Given the description of an element on the screen output the (x, y) to click on. 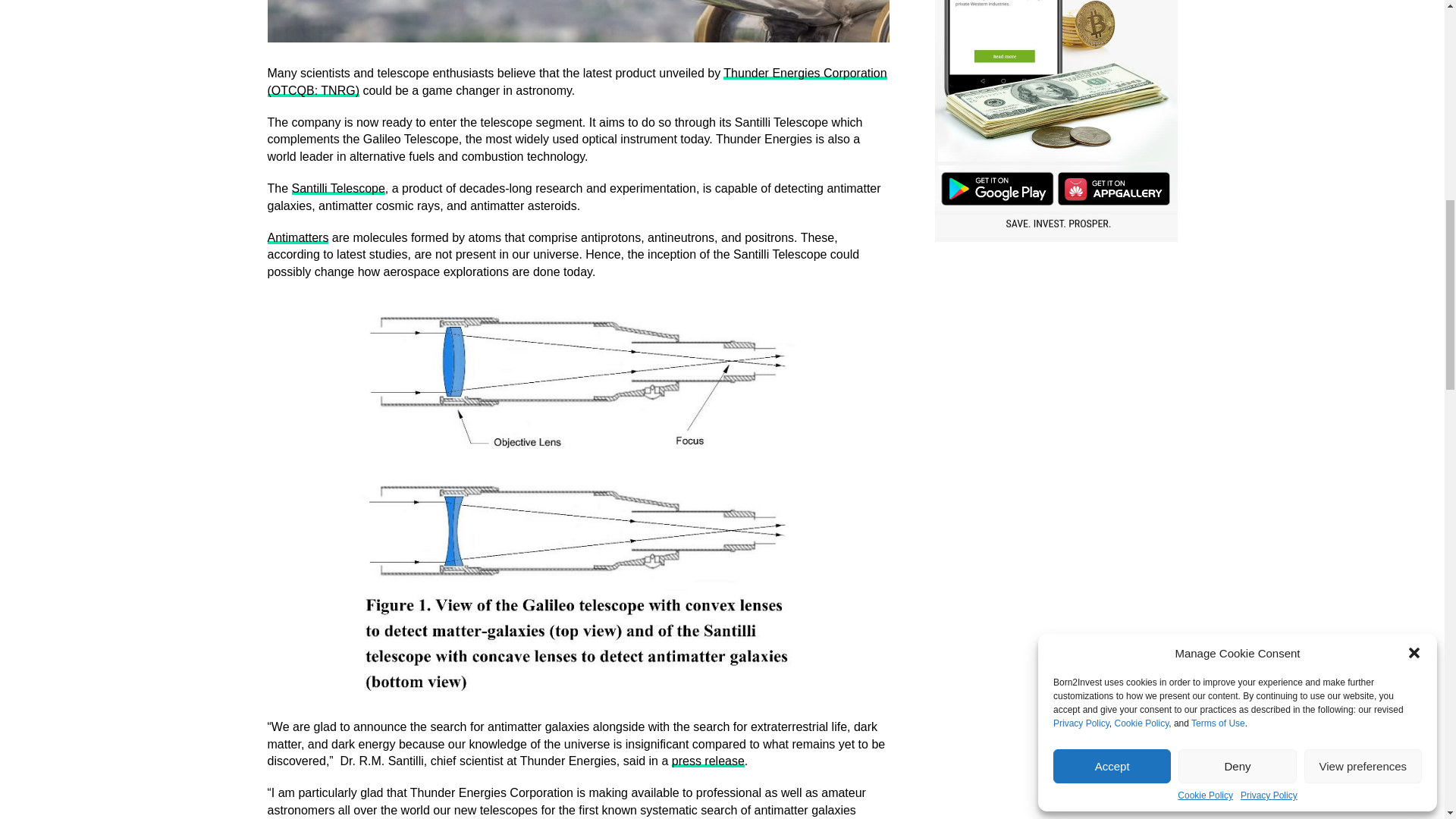
Advertisement (1055, 359)
